Given the description of an element on the screen output the (x, y) to click on. 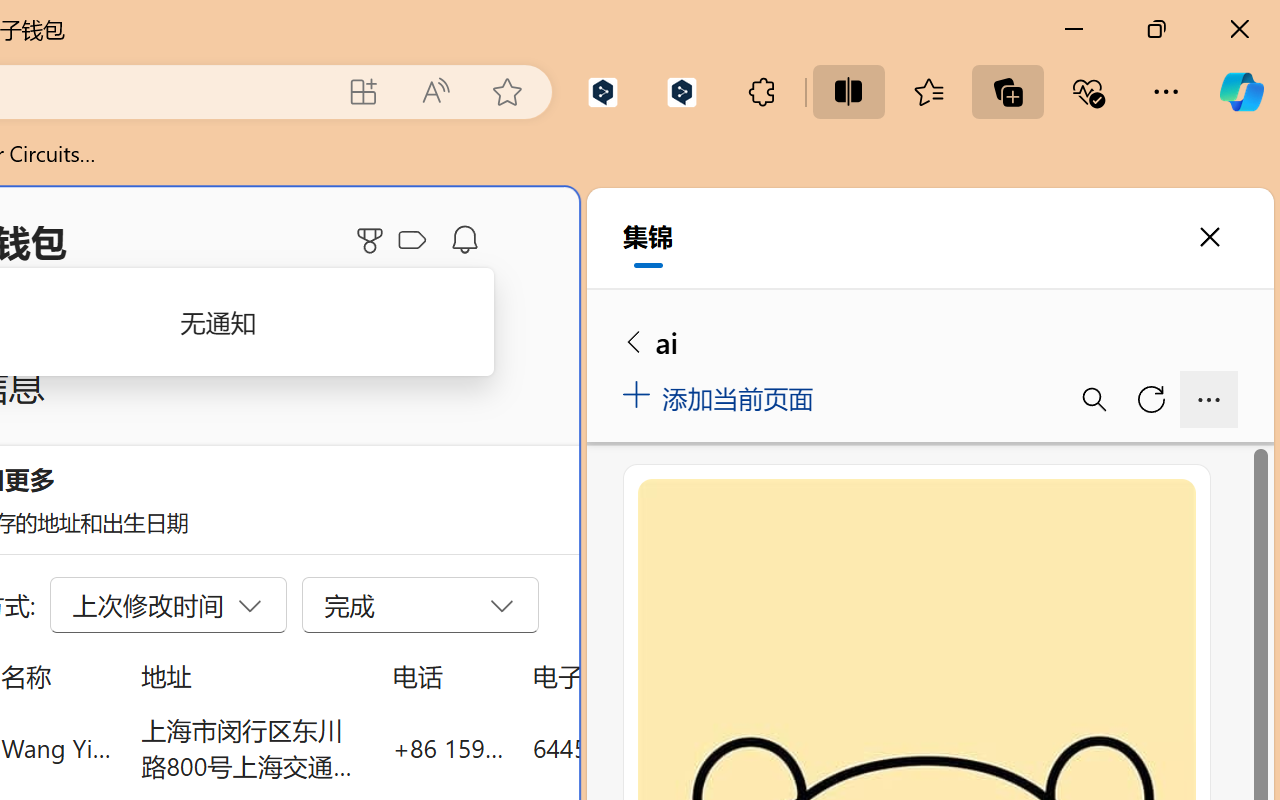
Microsoft Cashback (415, 241)
Class: ___1lmltc5 f1agt3bx f12qytpq (411, 241)
Copilot (Ctrl+Shift+.) (1241, 91)
